Given the description of an element on the screen output the (x, y) to click on. 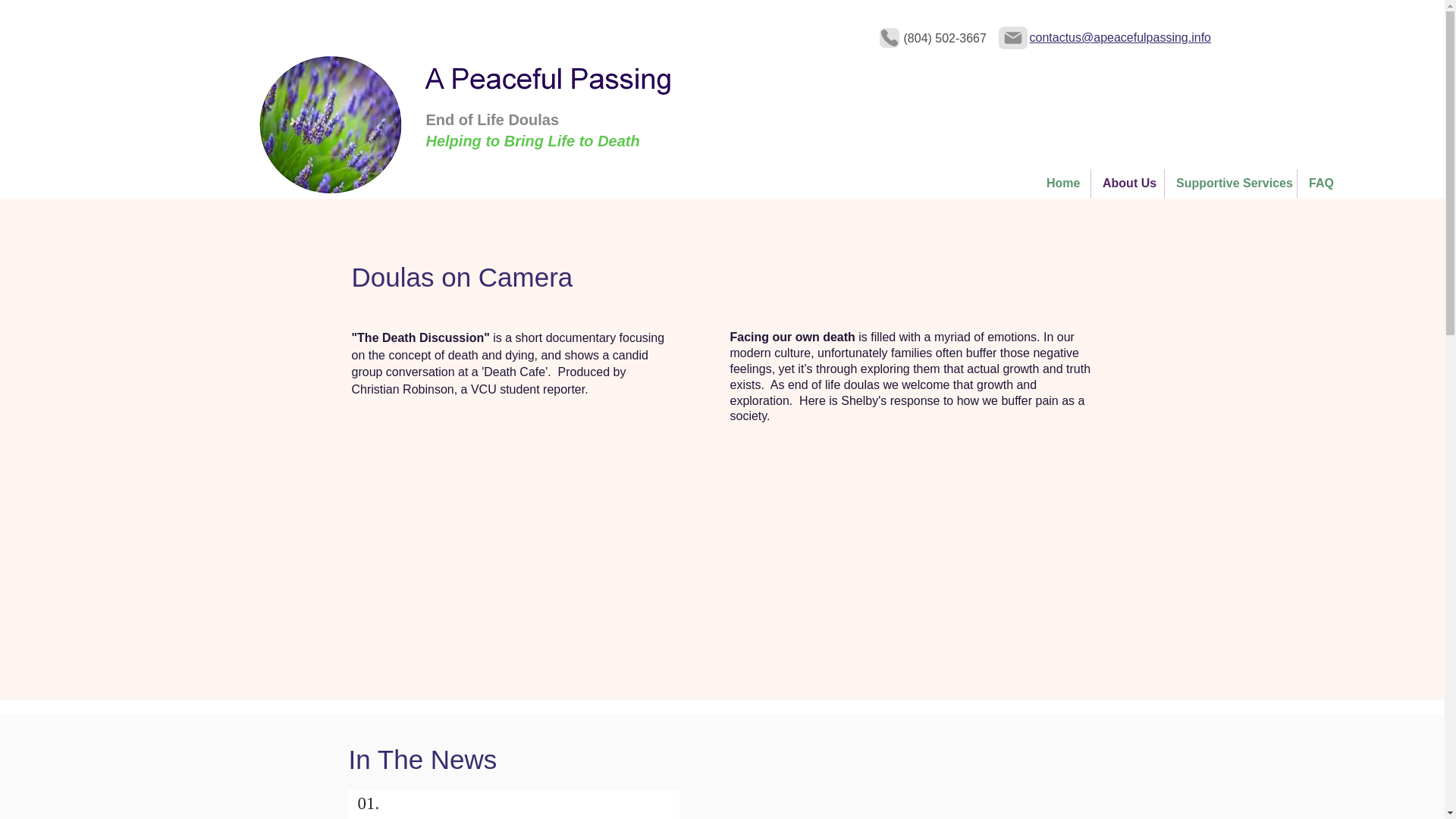
Home (1062, 183)
About Us (1126, 183)
FAQ (1320, 183)
Supportive Services (1230, 183)
